Given the description of an element on the screen output the (x, y) to click on. 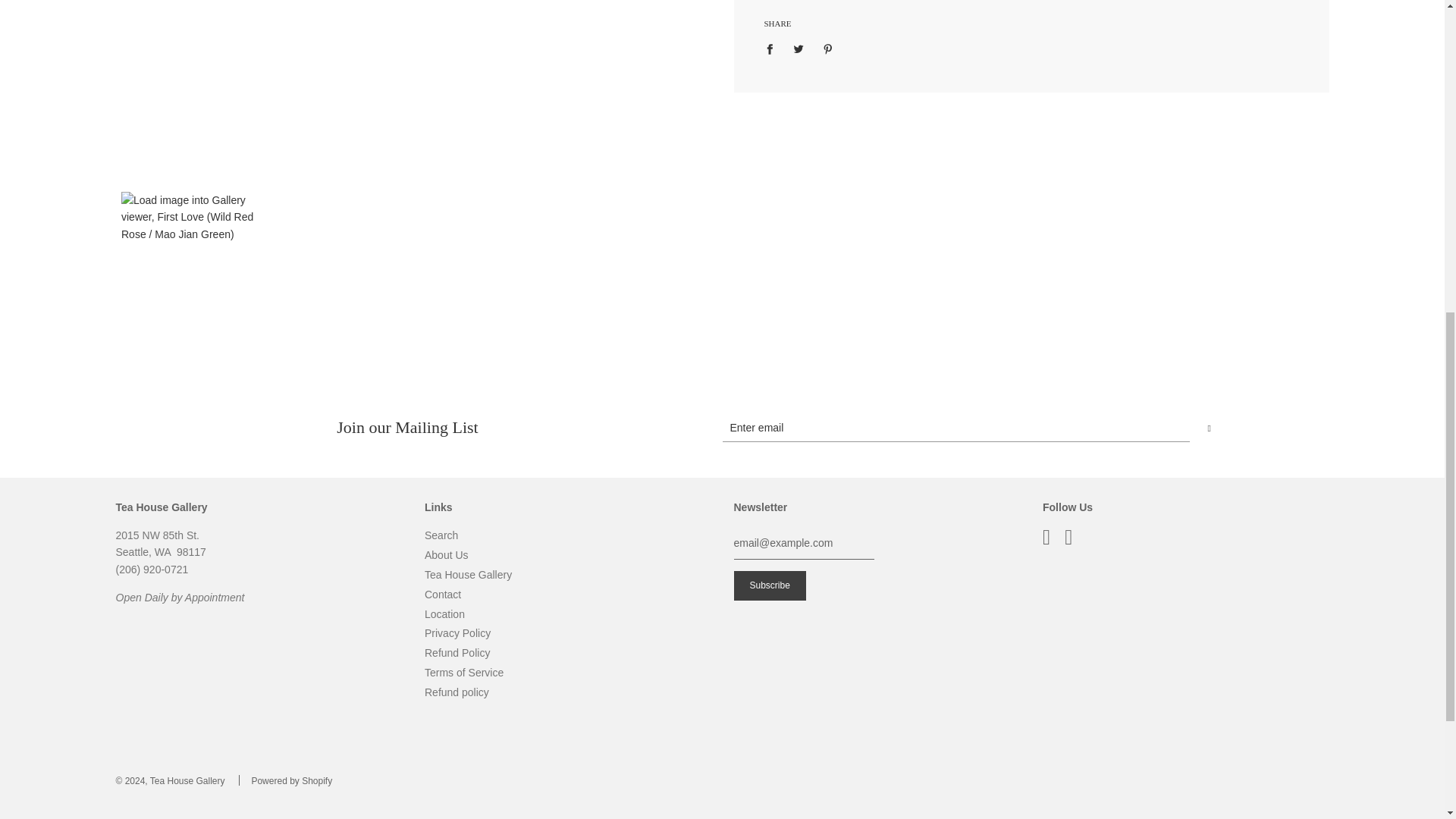
Subscribe (769, 585)
Join our Mailing List (722, 427)
